Given the description of an element on the screen output the (x, y) to click on. 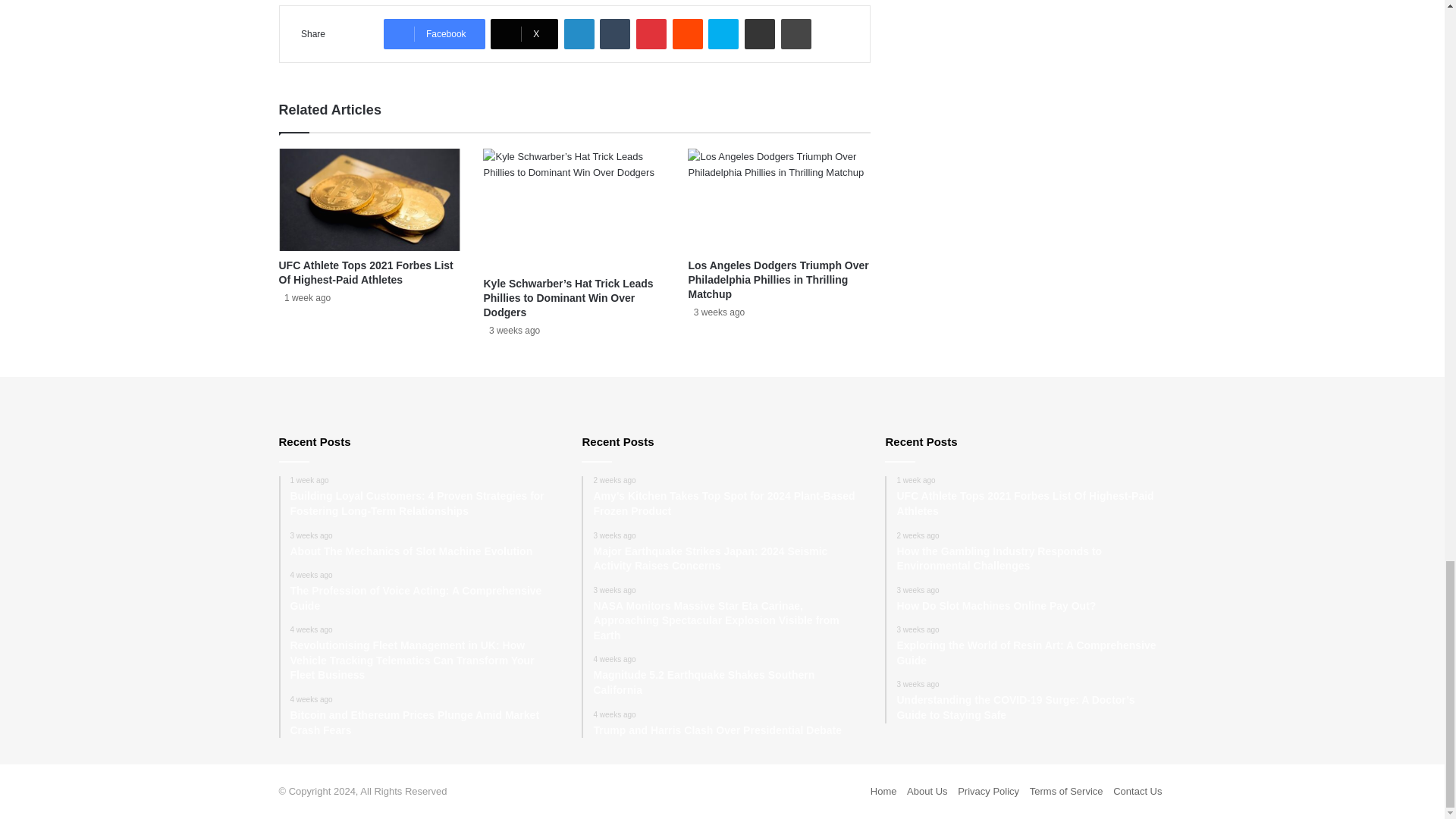
LinkedIn (579, 33)
Tumblr (614, 33)
X (523, 33)
LinkedIn (579, 33)
Skype (722, 33)
Reddit (687, 33)
Facebook (434, 33)
Skype (722, 33)
X (523, 33)
Pinterest (651, 33)
